Given the description of an element on the screen output the (x, y) to click on. 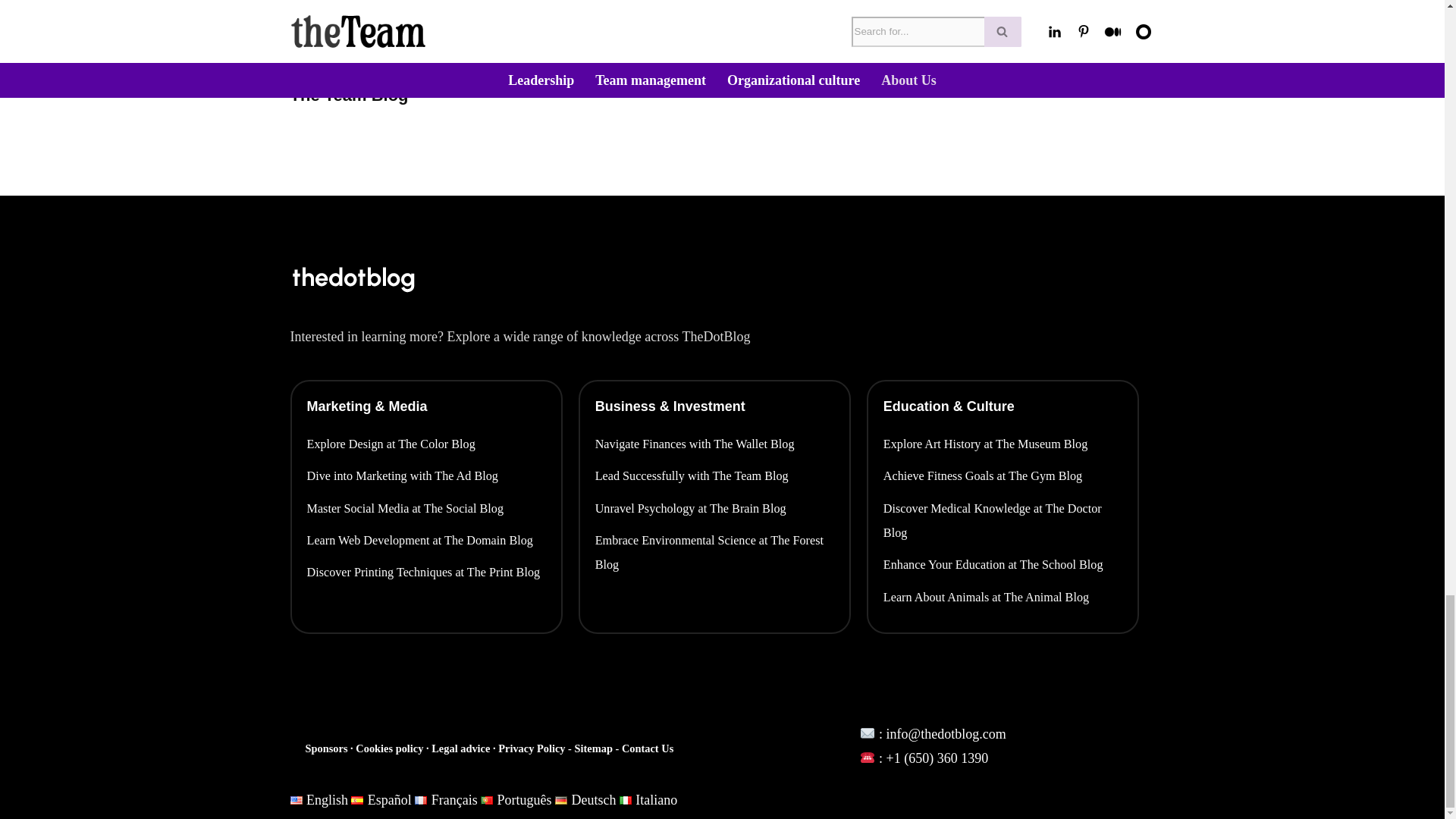
Embrace Environmental Science at The Forest Blog (714, 553)
Master Social Media at The Social Blog (425, 508)
Unravel Psychology at The Brain Blog (714, 508)
Sponsors (327, 748)
Explore Art History at The Museum Blog (1002, 444)
Navigate Finances with The Wallet Blog (714, 444)
Discover Printing Techniques at The Print Blog (425, 572)
Dive into Marketing with The Ad Blog (425, 476)
Lead Successfully with The Team Blog (714, 476)
Learn Web Development at The Domain Blog (425, 540)
Explore Design at The Color Blog (425, 444)
Learn About Animals at The Animal Blog (1002, 597)
Achieve Fitness Goals at The Gym Blog (1002, 476)
Discover Medical Knowledge at The Doctor Blog (1002, 521)
Enhance Your Education at The School Blog (1002, 564)
